Given the description of an element on the screen output the (x, y) to click on. 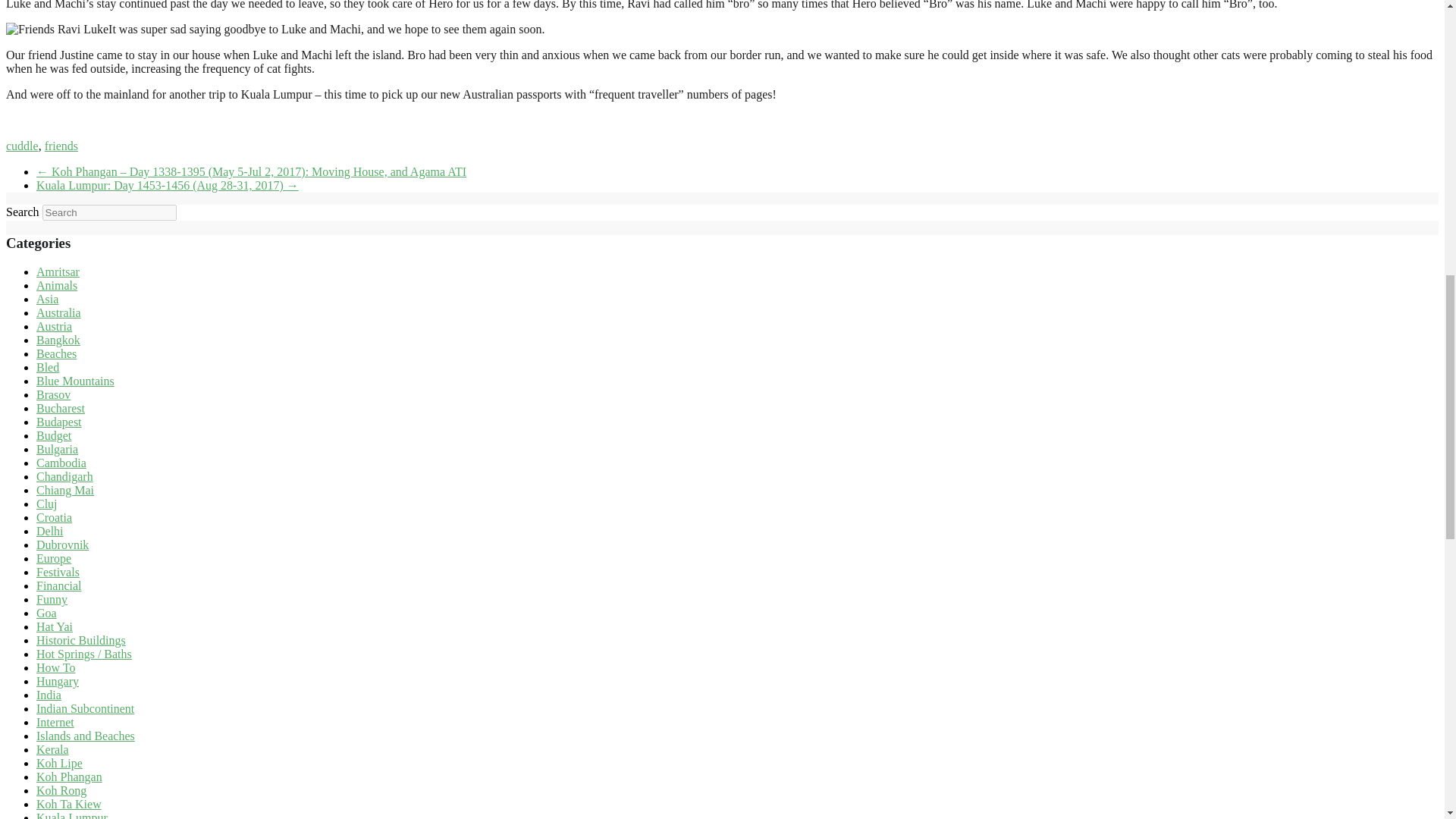
Bucharest (60, 408)
Croatia (53, 517)
Goa (46, 612)
Festivals (58, 571)
Delhi (50, 530)
Beaches (56, 353)
Cluj (47, 503)
Budapest (58, 421)
Asia (47, 298)
Animals (56, 285)
Funny (51, 599)
Amritsar (58, 271)
Austria (53, 326)
Brasov (52, 394)
Bulgaria (57, 449)
